Given the description of an element on the screen output the (x, y) to click on. 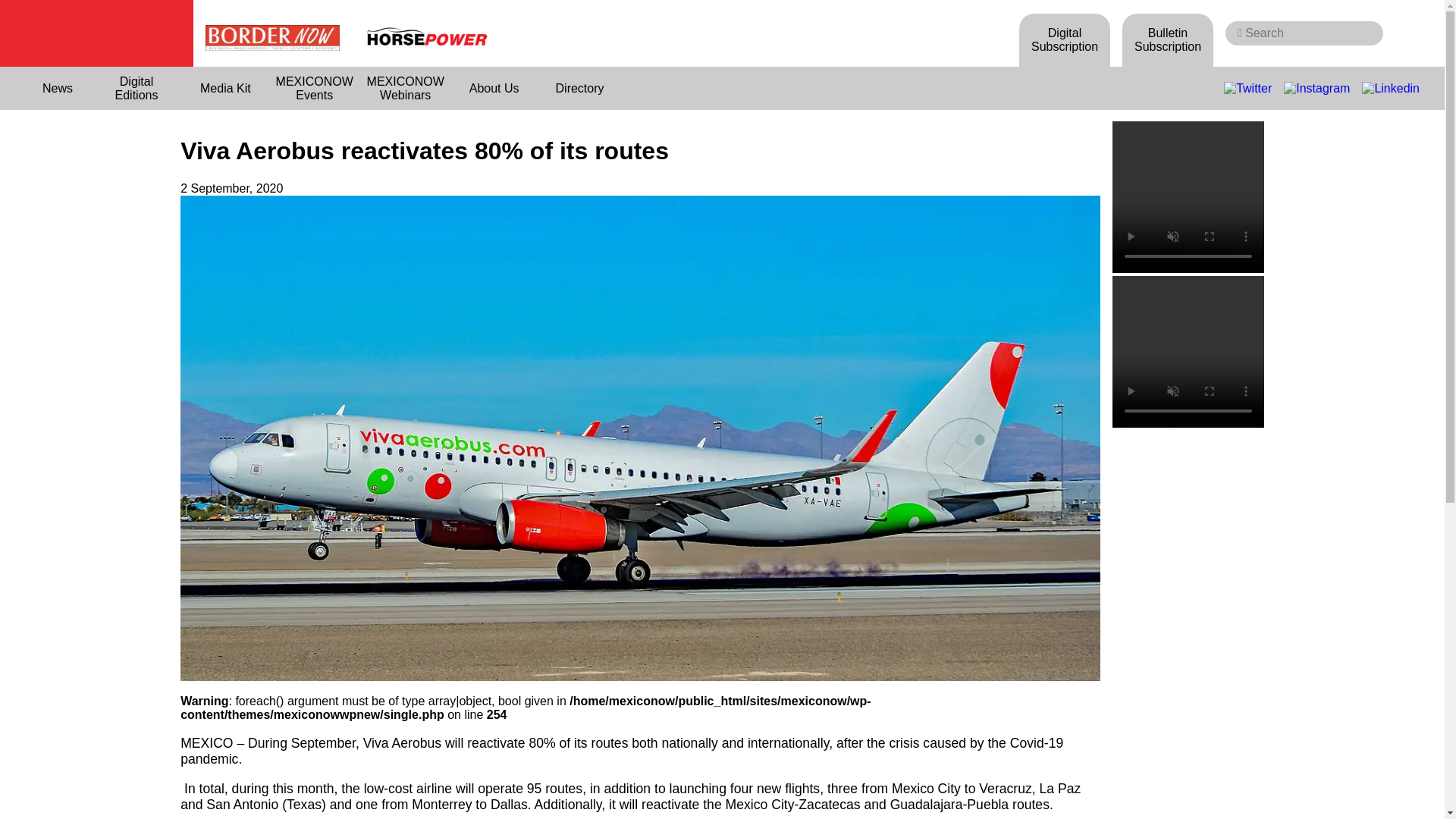
MEXICONOW Events (314, 87)
Digital Subscription (1064, 39)
Media Kit (225, 87)
News (57, 87)
Directory (580, 87)
MEXICONOW Webinars (405, 87)
Digital Editions (136, 87)
Bulletin Subscription (1167, 39)
About Us (494, 87)
